Given the description of an element on the screen output the (x, y) to click on. 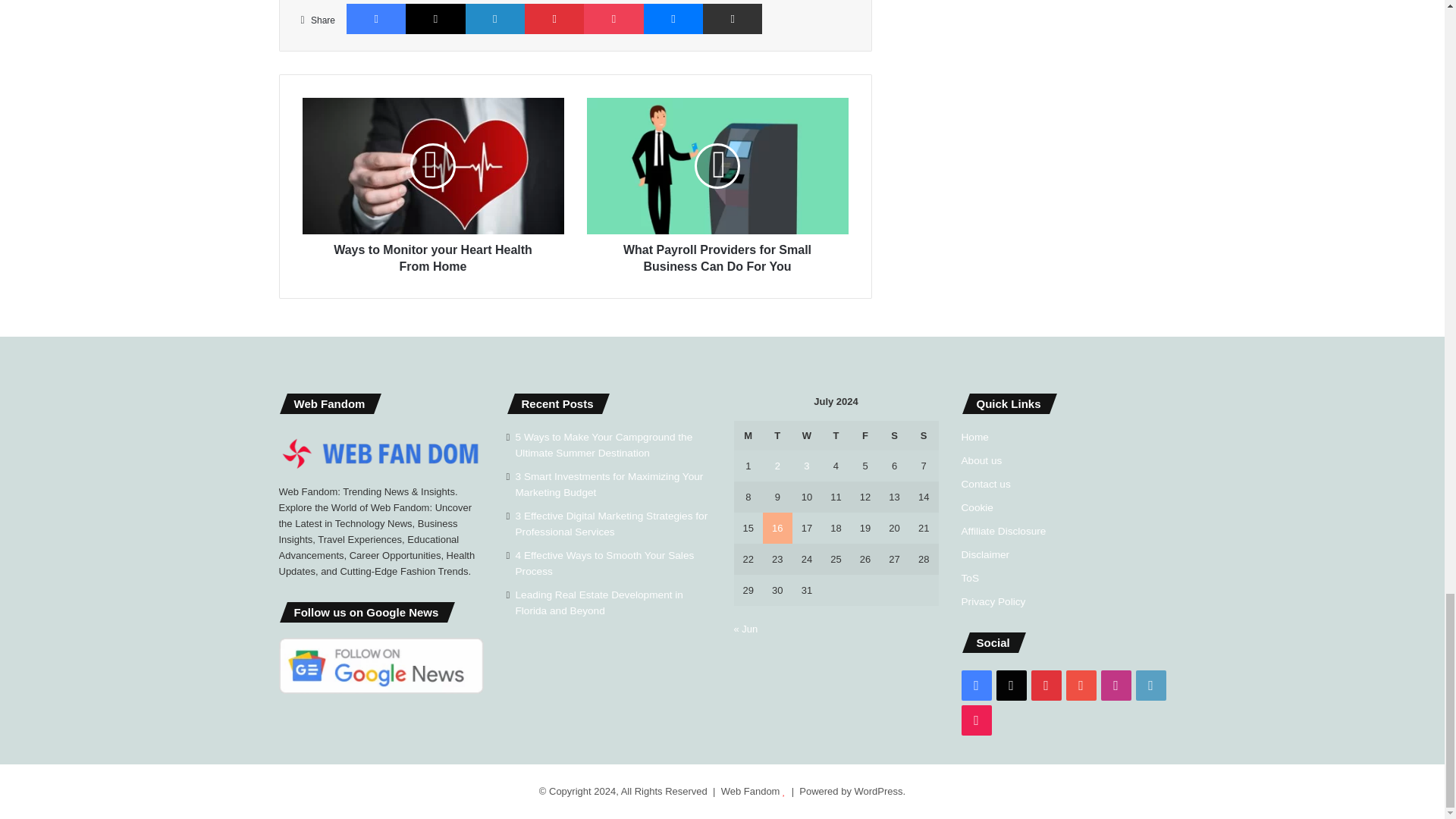
Messenger (673, 19)
Facebook (376, 19)
Pocket (613, 19)
Pocket (613, 19)
X (435, 19)
X (435, 19)
LinkedIn (494, 19)
Pinterest (553, 19)
Facebook (376, 19)
LinkedIn (494, 19)
Pinterest (553, 19)
